Given the description of an element on the screen output the (x, y) to click on. 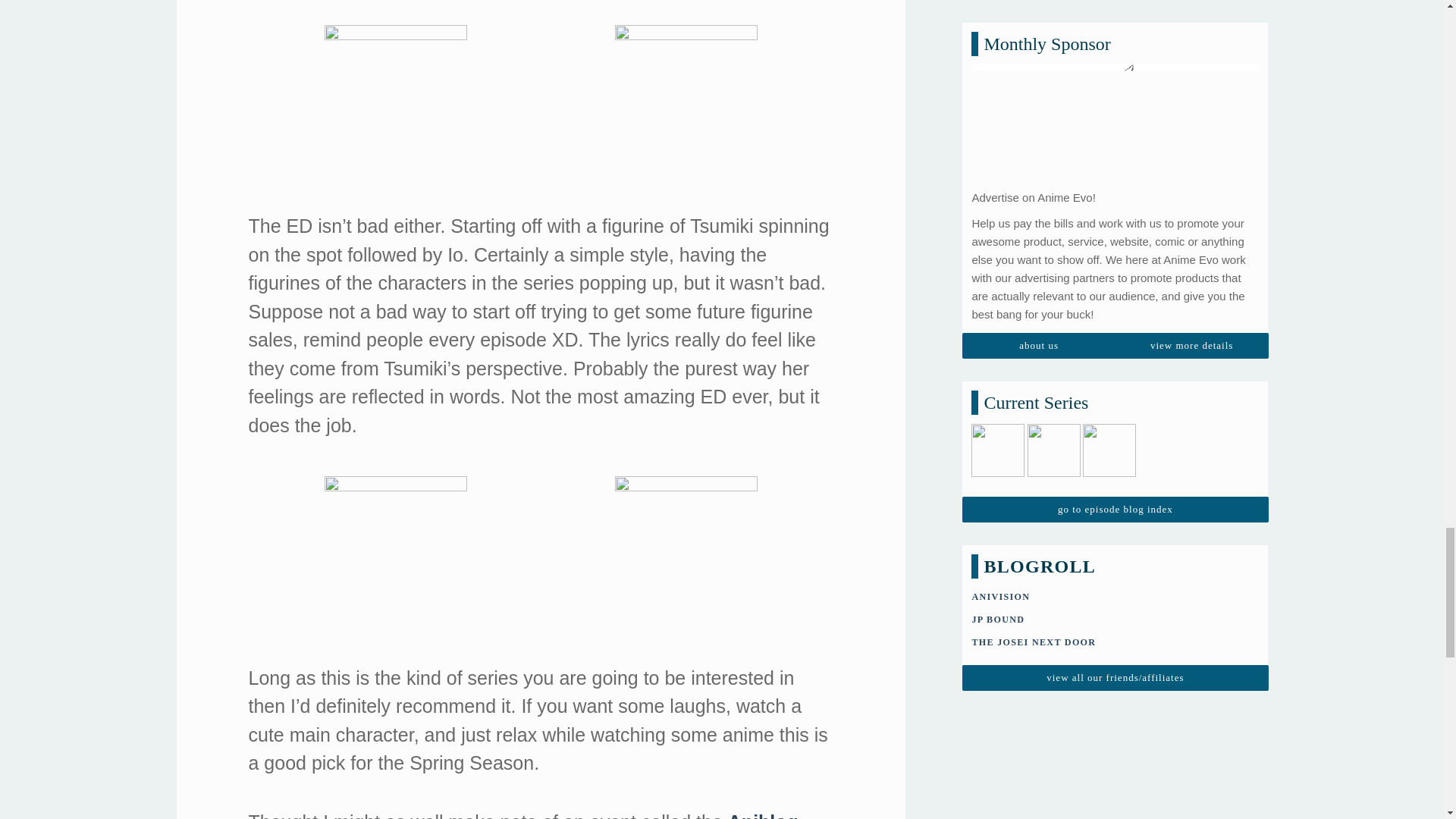
Aniblog Tourney (522, 815)
